Given the description of an element on the screen output the (x, y) to click on. 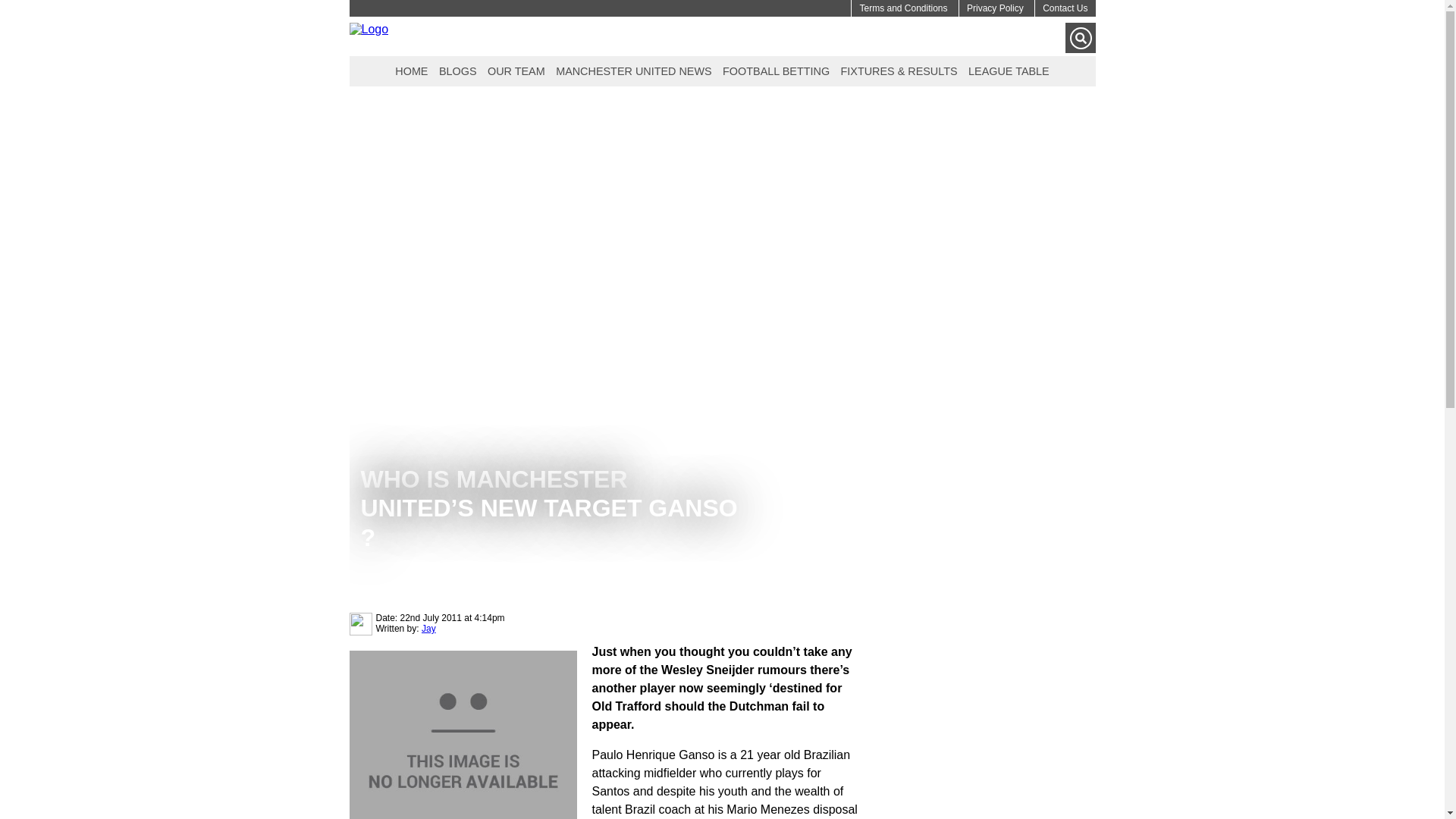
MANCHESTER UNITED NEWS (632, 69)
BLOGS (457, 69)
Contact Us (1064, 8)
Jay (428, 628)
Terms and Conditions (903, 8)
Posts by Jay (428, 628)
Could the 'New Kaka' be heading to the Theatre of Dreams?  (462, 734)
Privacy Policy (994, 8)
HOME (410, 69)
OUR TEAM (515, 69)
FOOTBALL BETTING (775, 69)
LEAGUE TABLE (1007, 69)
